Given the description of an element on the screen output the (x, y) to click on. 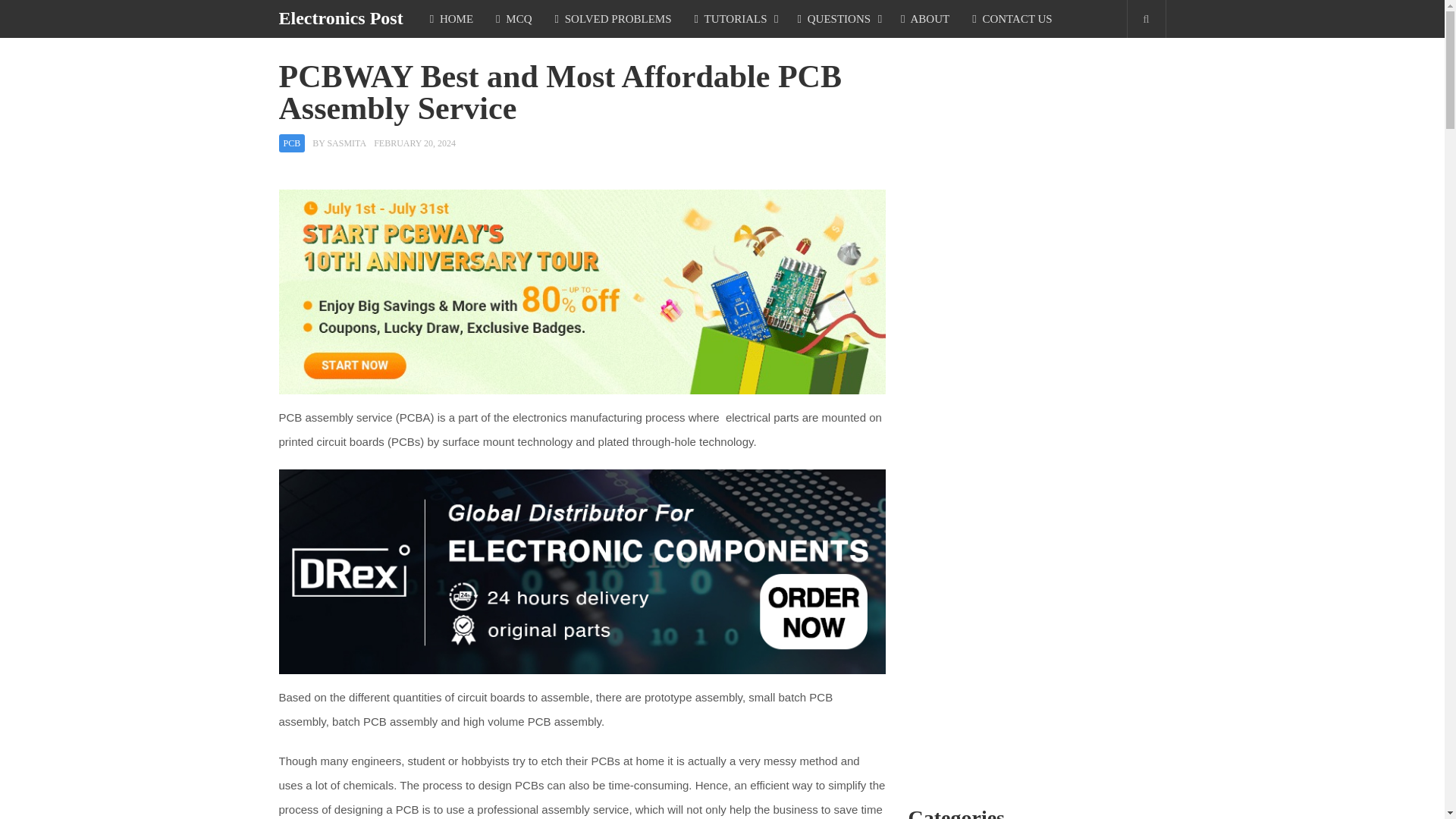
SOLVED PROBLEMS (612, 18)
QUESTIONS (837, 18)
MCQ (513, 18)
SASMITA (346, 143)
CONTACT US (1012, 18)
Posts by Sasmita (346, 143)
PCB (292, 143)
View all posts in PCB (292, 143)
ABOUT (924, 18)
Electronics Post (341, 18)
